Given the description of an element on the screen output the (x, y) to click on. 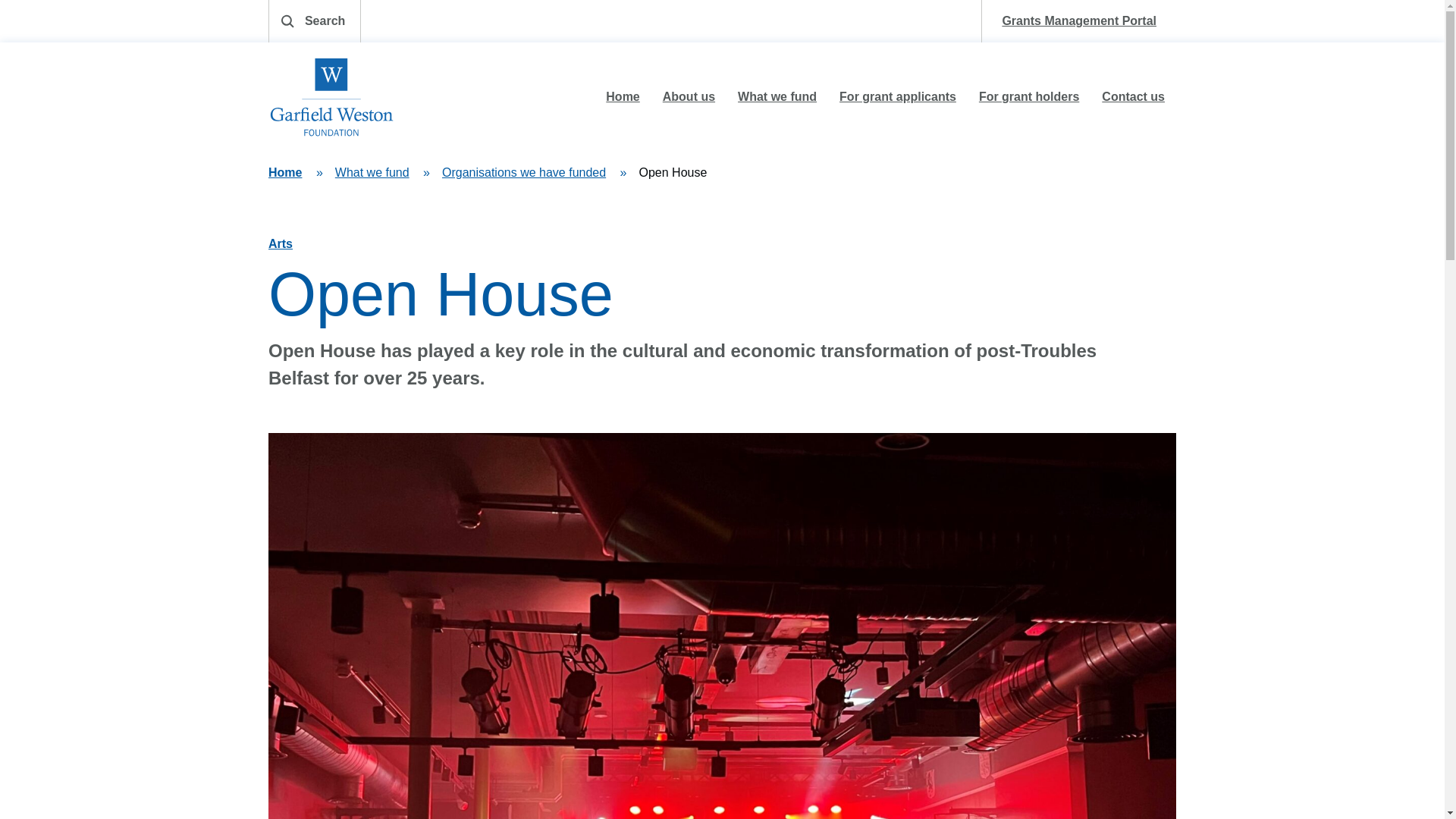
Search (314, 21)
For grant holders (1028, 96)
Home (622, 96)
Home (330, 96)
For grant applicants (898, 96)
Home (284, 172)
Grants Management Portal (1078, 21)
About us (688, 96)
Garfield Weston Foundation (330, 96)
Contact us (1133, 96)
What we fund (777, 96)
